Given the description of an element on the screen output the (x, y) to click on. 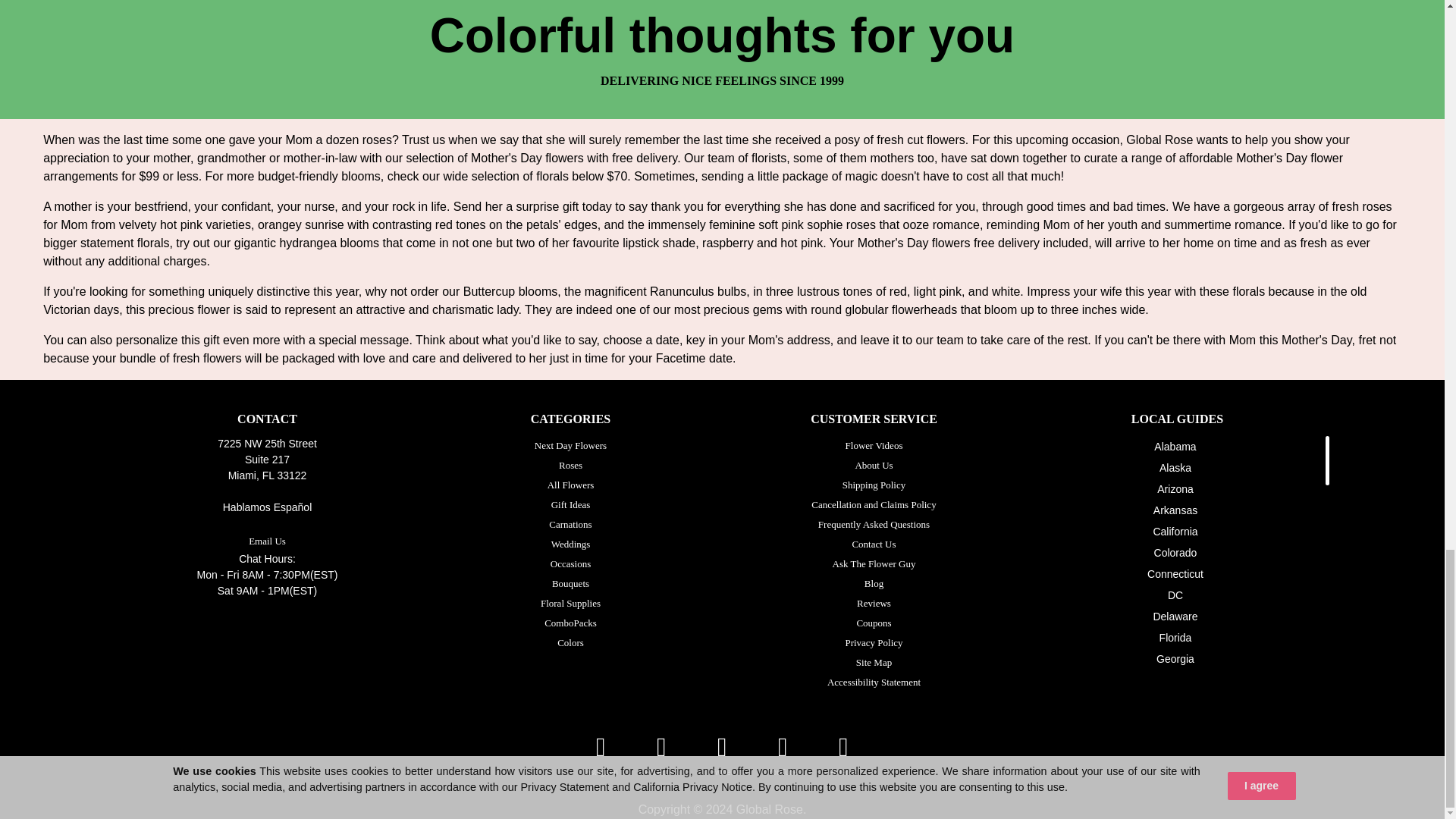
Connecticut (1175, 573)
Alaska (1174, 467)
Georgia (1174, 658)
Arkansas (1174, 510)
Arizona (1174, 489)
Alabama (1174, 446)
Delaware (1174, 616)
DC (1174, 594)
California (1174, 531)
Colorado (1175, 552)
